Given the description of an element on the screen output the (x, y) to click on. 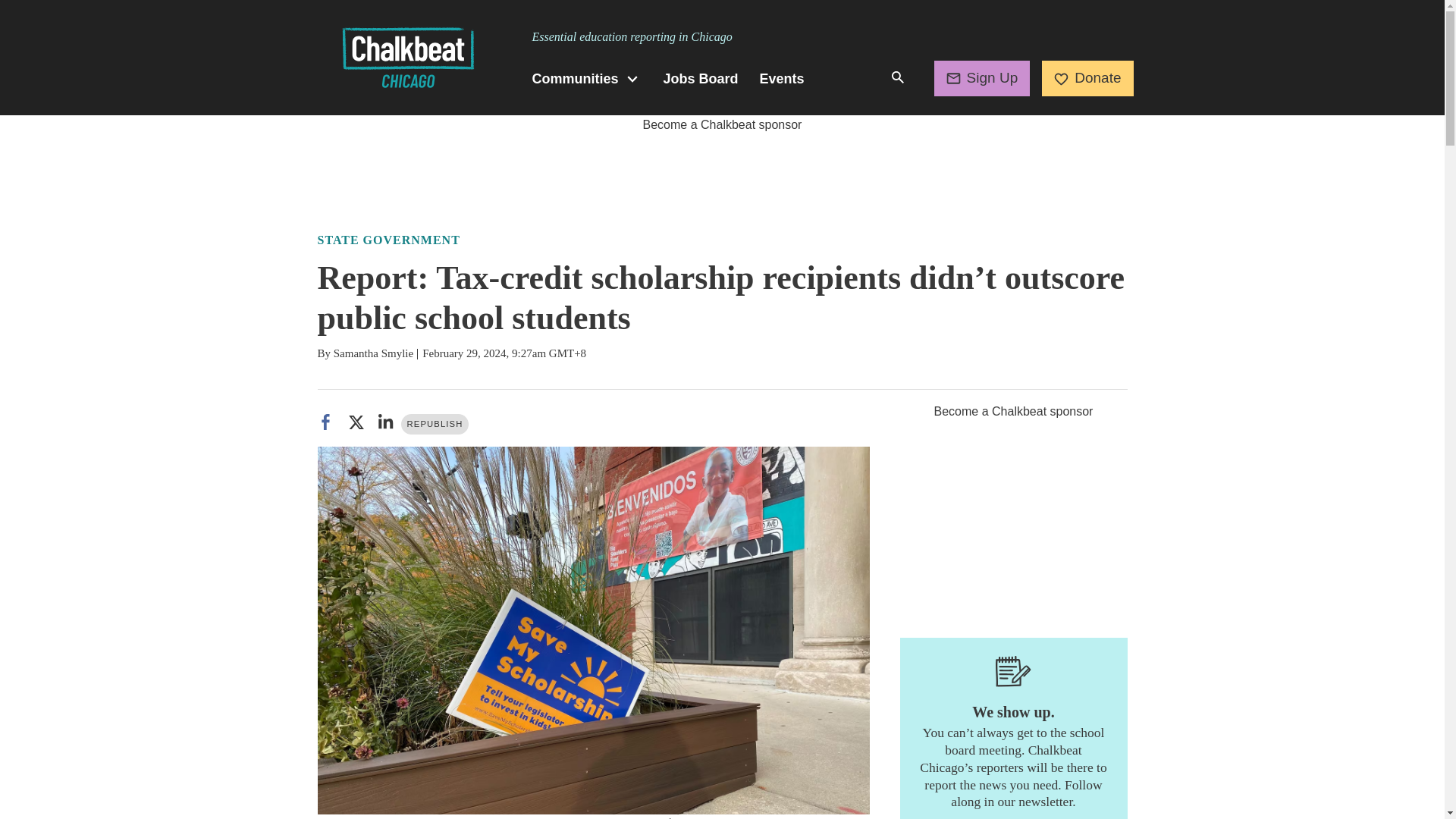
Sign Up (982, 77)
Donate (1087, 77)
Jobs Board (700, 79)
Samantha Smylie (373, 353)
REPUBLISH (434, 424)
Become a Chalkbeat sponsor (722, 124)
Events (782, 79)
STATE GOVERNMENT (388, 239)
